Given the description of an element on the screen output the (x, y) to click on. 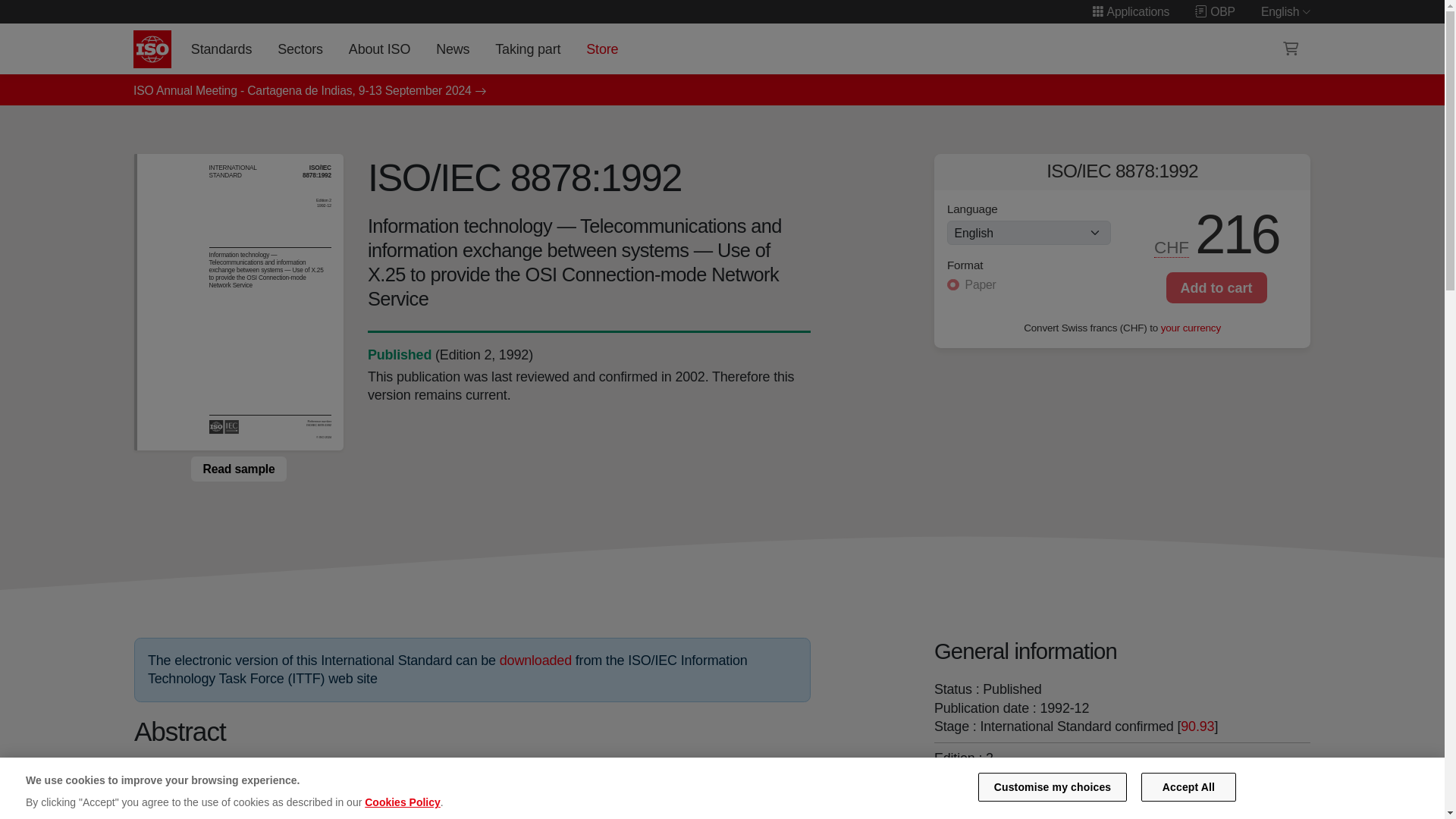
Store (601, 48)
Telecommunications and information exchange between systems (1129, 808)
annual-meeting-2024 (302, 90)
Swiss francs (1171, 247)
Standards (220, 48)
Online Browsing Platform (1214, 11)
90.93 (1197, 726)
